Given the description of an element on the screen output the (x, y) to click on. 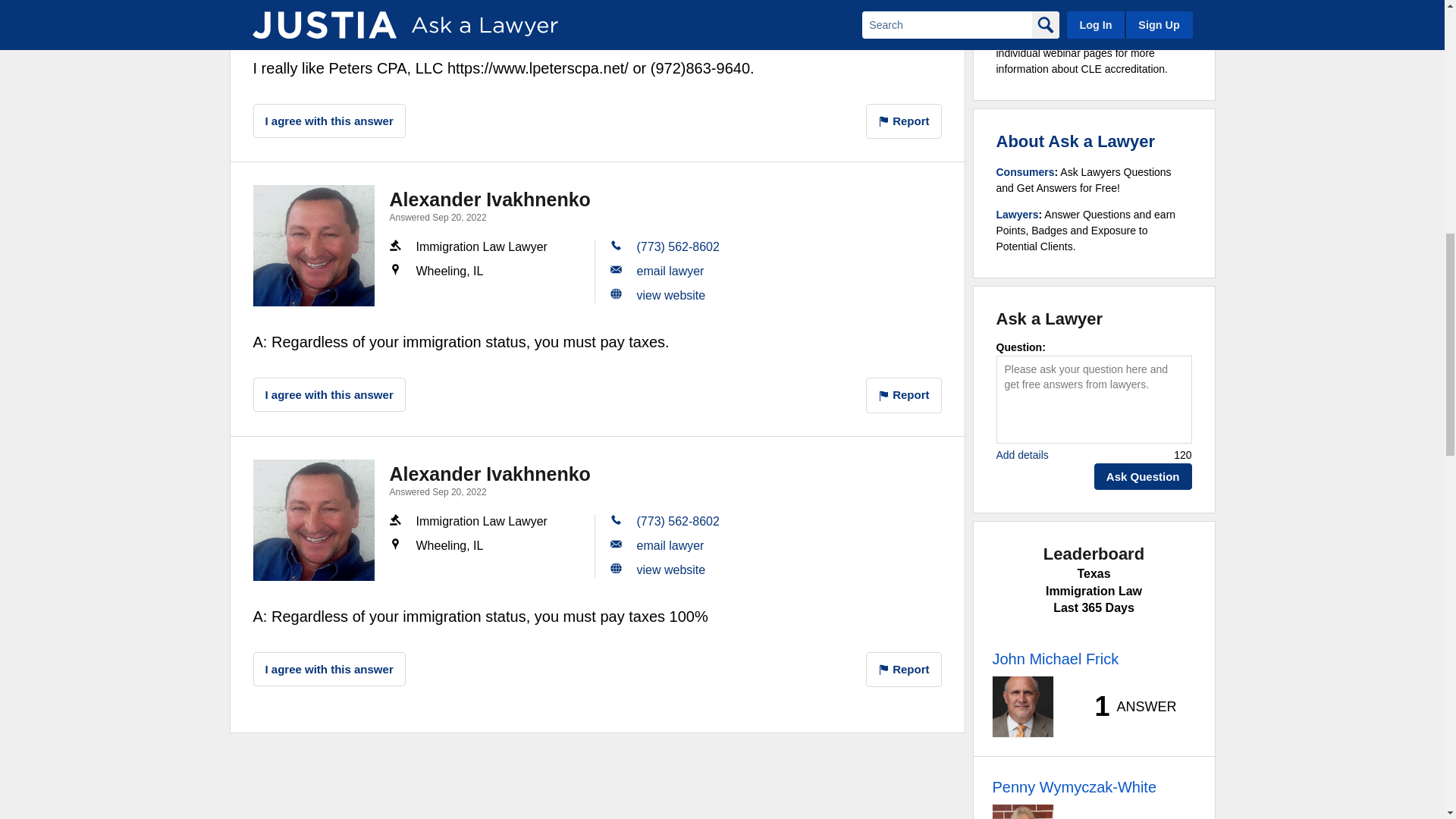
Ask a Lawyer - Leaderboard - Lawyer Stats (1127, 706)
Ask a Lawyer - FAQs - Lawyers (1017, 214)
Ask a Lawyer - FAQs - Consumers (1024, 172)
Ask a Lawyer - Leaderboard - Lawyer Name (1054, 658)
Alexander Ivakhnenko (313, 245)
Ask a Lawyer - Leaderboard - Lawyer Name (1073, 786)
Ask a Lawyer - Leaderboard - Lawyer Photo (1021, 706)
Ask a Lawyer - Leaderboard - Lawyer Photo (1021, 811)
Alexander Ivakhnenko (313, 519)
